Given the description of an element on the screen output the (x, y) to click on. 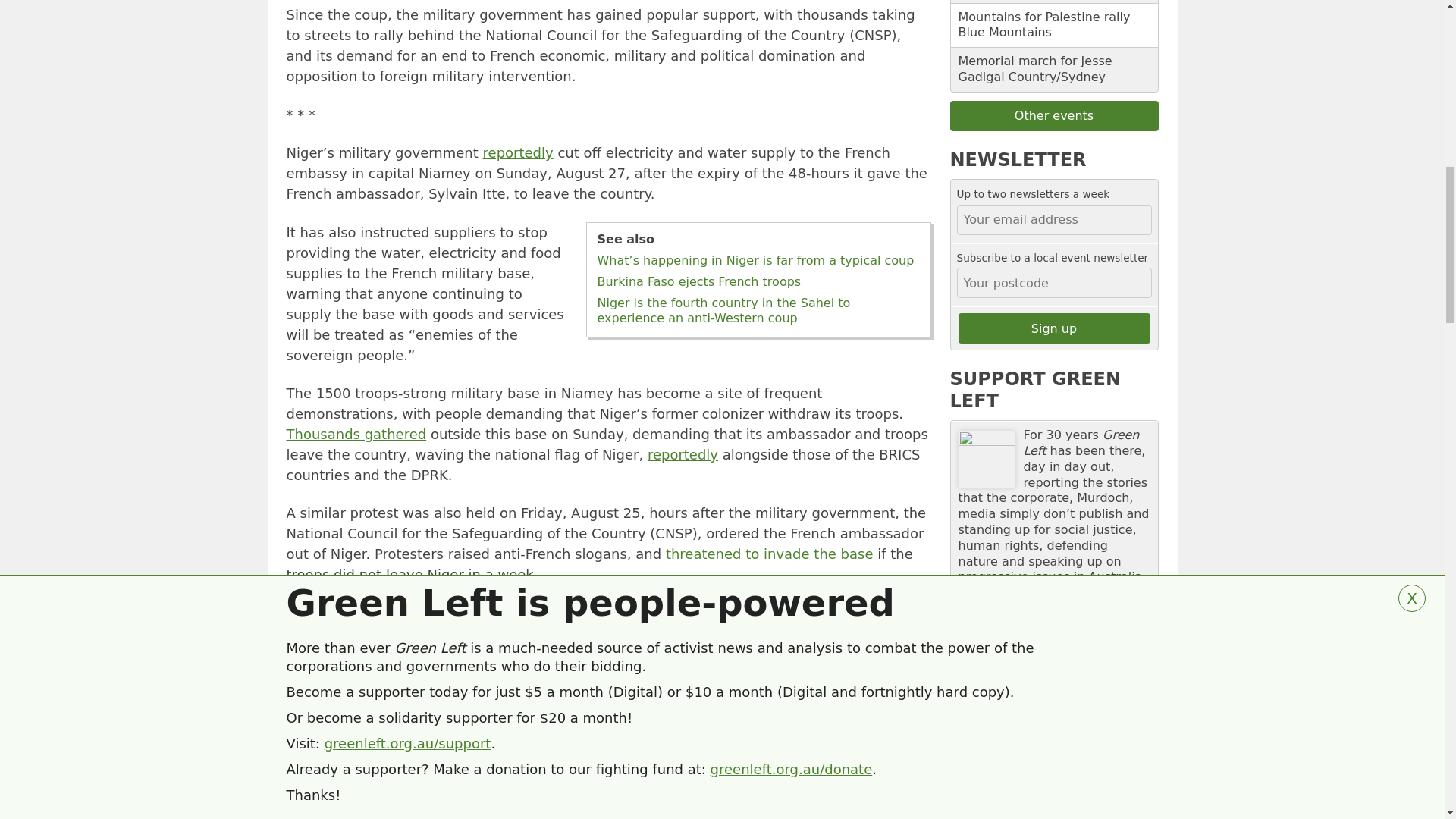
Sign up (1054, 327)
